Given the description of an element on the screen output the (x, y) to click on. 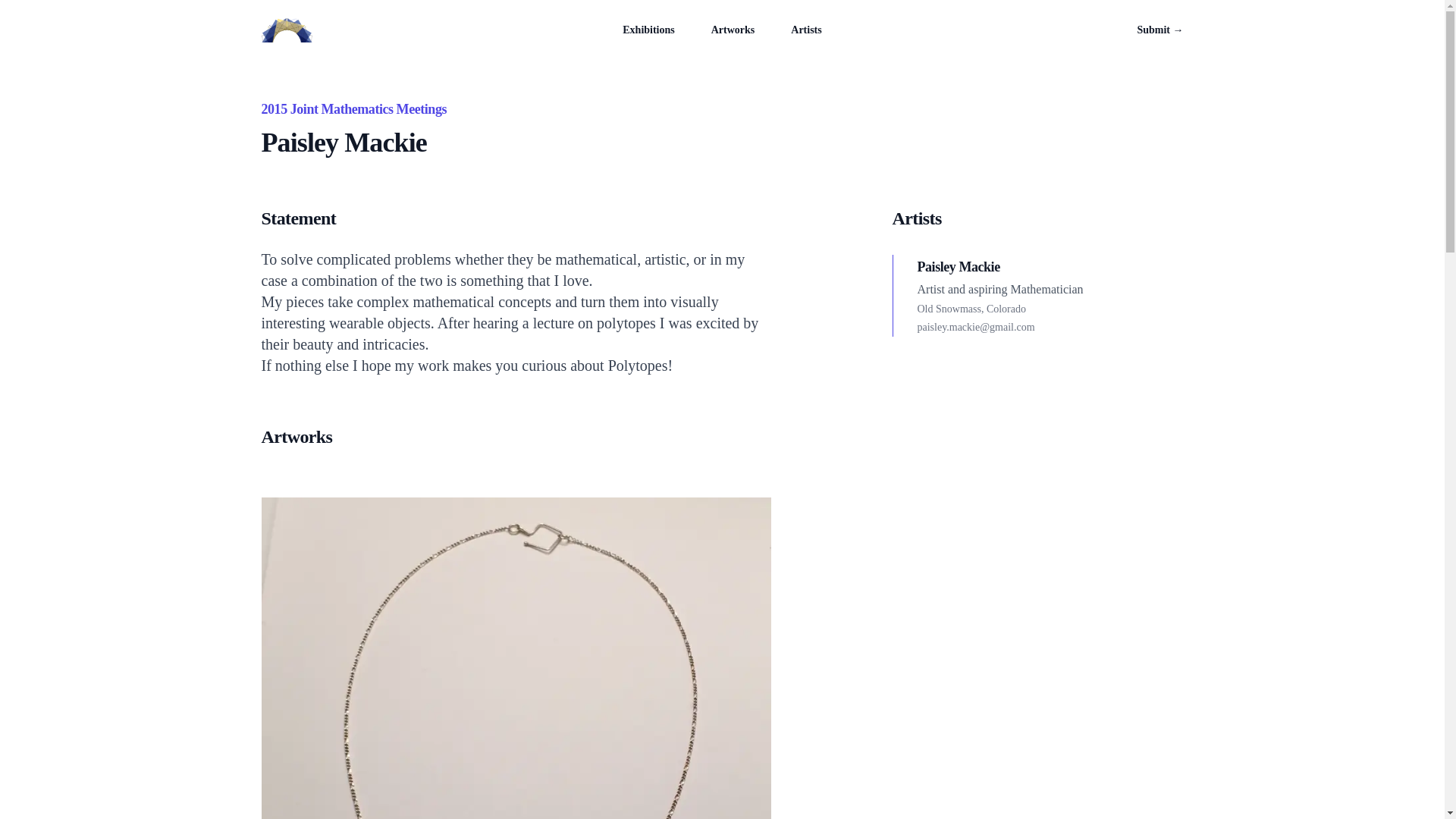
Mathematical Art Galleries (285, 29)
Artists (805, 30)
Artworks (733, 30)
2015 Joint Mathematics Meetings (353, 109)
Exhibitions (648, 30)
